Given the description of an element on the screen output the (x, y) to click on. 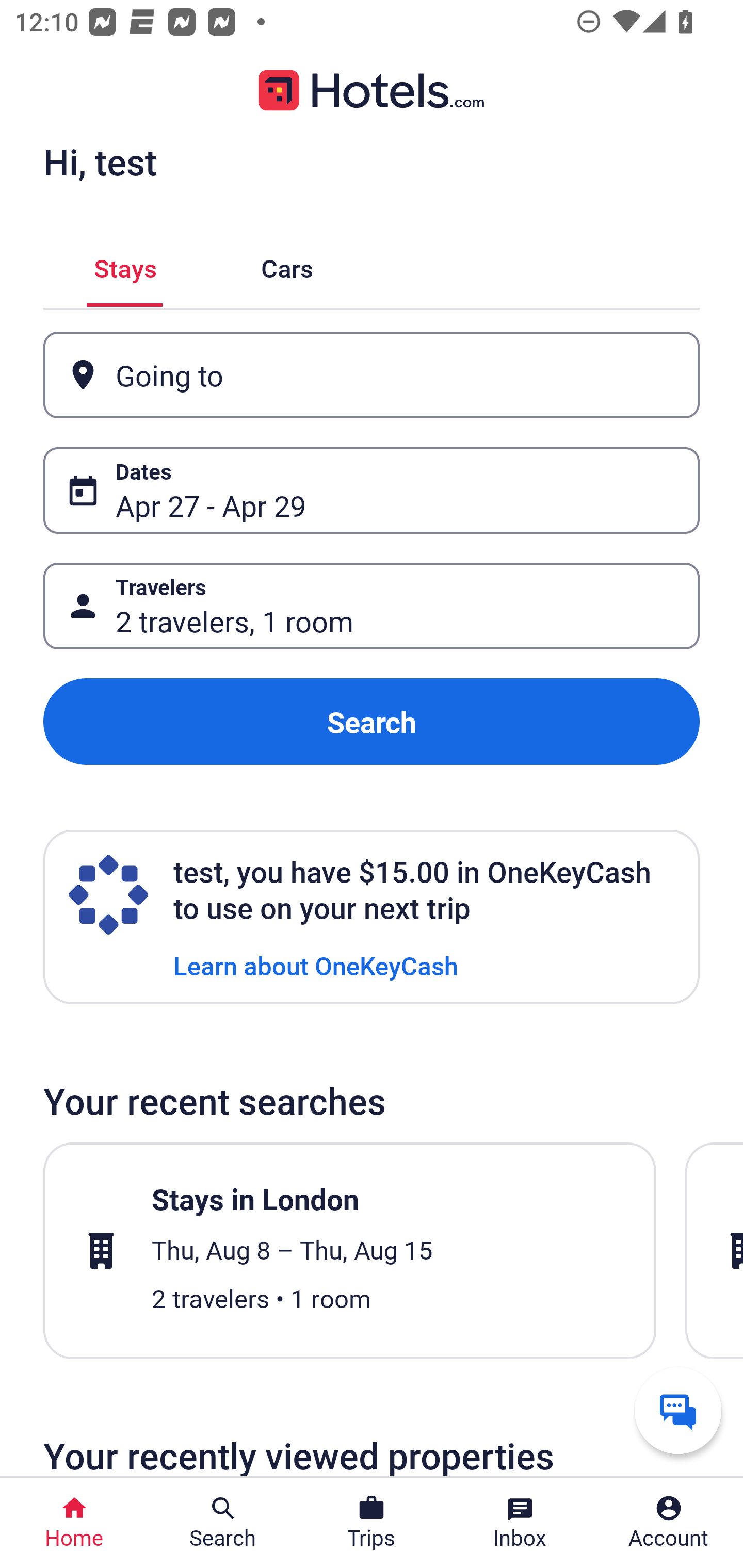
Hi, test (99, 161)
Cars (286, 265)
Going to Button (371, 375)
Dates Button Apr 27 - Apr 29 (371, 489)
Travelers Button 2 travelers, 1 room (371, 605)
Search (371, 721)
Learn about OneKeyCash Learn about OneKeyCash Link (315, 964)
Get help from a virtual agent (677, 1410)
Search Search Button (222, 1522)
Trips Trips Button (371, 1522)
Inbox Inbox Button (519, 1522)
Account Profile. Button (668, 1522)
